Given the description of an element on the screen output the (x, y) to click on. 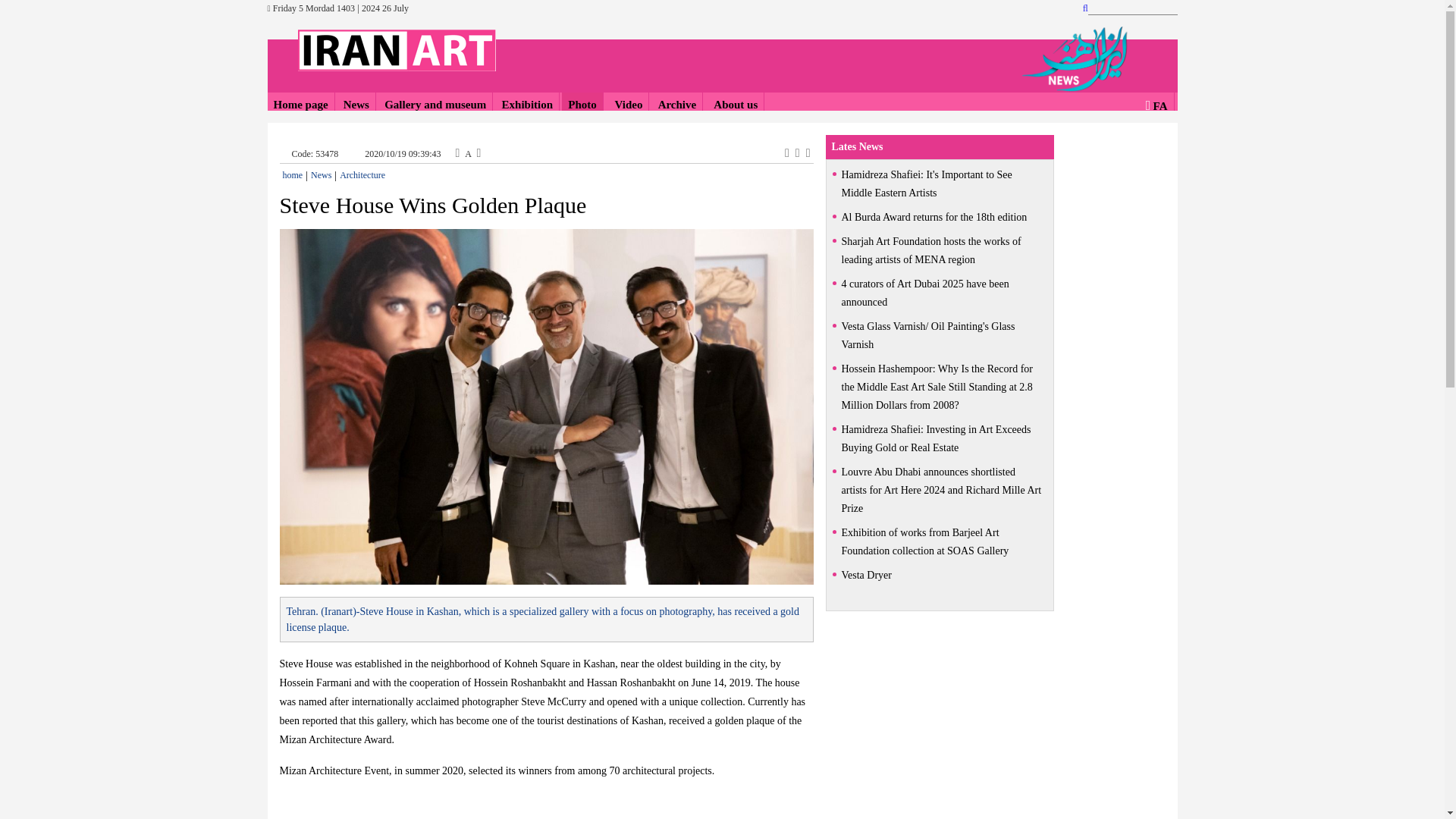
Home page (300, 104)
News (321, 174)
Exhibition (527, 104)
home (292, 174)
Gallery and museum (435, 104)
 Video (626, 104)
Architecture (362, 174)
Al Burda Award returns for the 18th edition (940, 217)
News (356, 104)
